Given the description of an element on the screen output the (x, y) to click on. 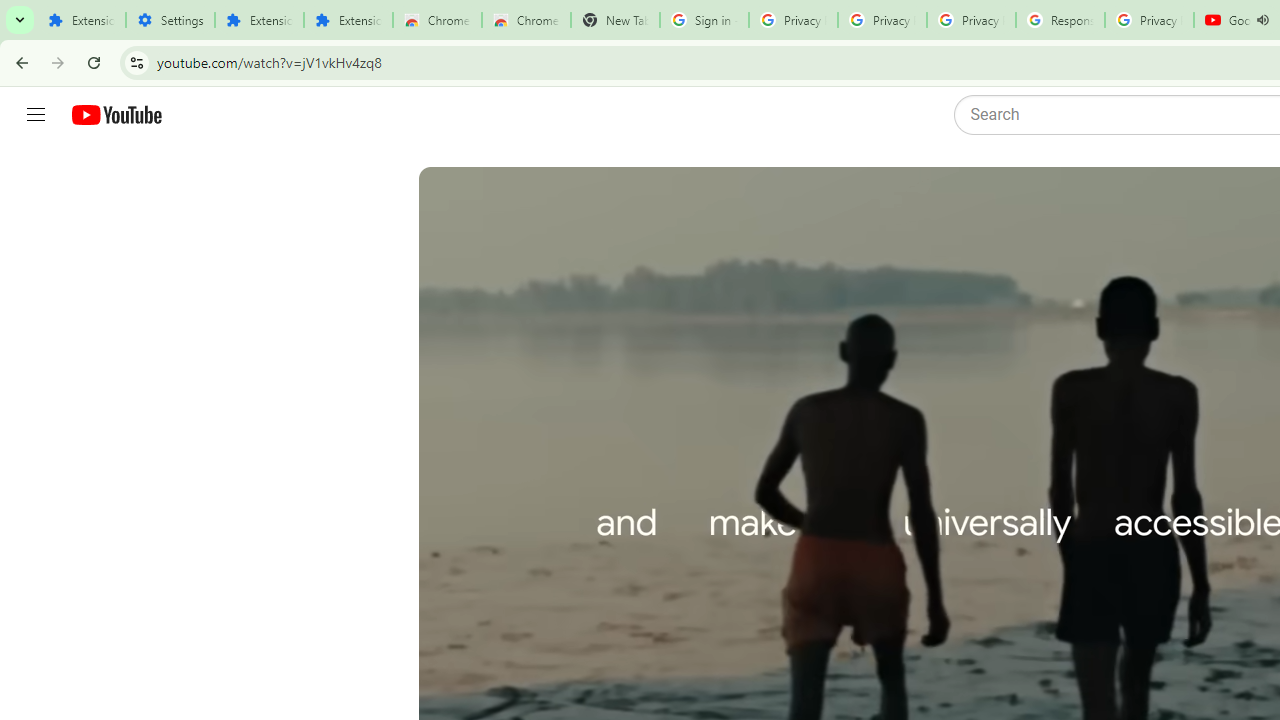
YouTube Home (116, 115)
Forward (57, 62)
Chrome Web Store (437, 20)
Guide (35, 115)
Sign in - Google Accounts (704, 20)
Mute tab (1262, 20)
Chrome Web Store - Themes (526, 20)
Extensions (259, 20)
View site information (136, 62)
Back (19, 62)
